Given the description of an element on the screen output the (x, y) to click on. 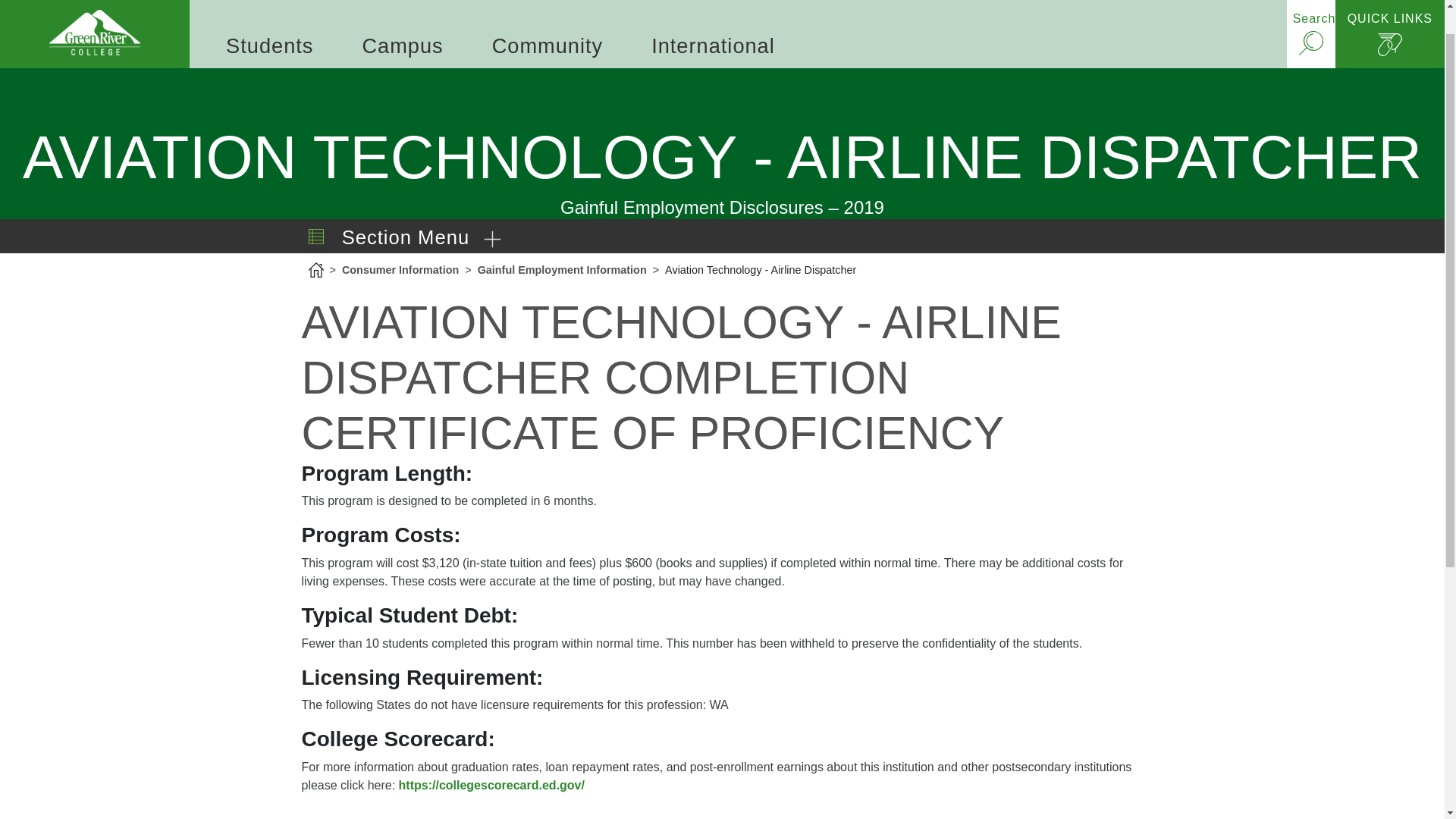
Students (269, 14)
College Score Card website (491, 784)
Green River College (94, 16)
